Given the description of an element on the screen output the (x, y) to click on. 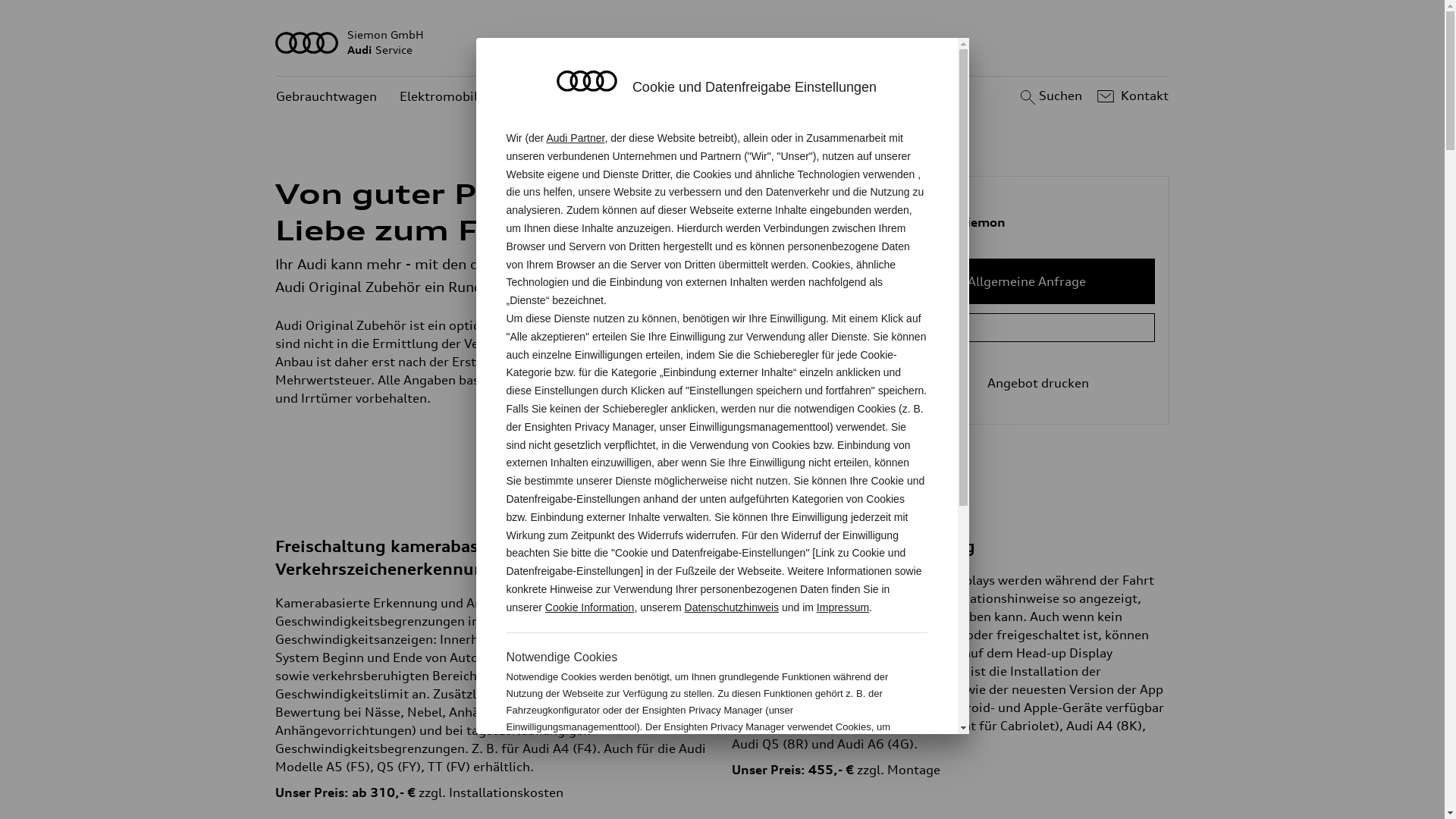
Cookie Information Element type: text (847, 776)
Suchen Element type: text (1049, 96)
Angebote Element type: text (550, 96)
Allgemeine Anfrage Element type: text (1025, 281)
Angebot drucken Element type: text (1026, 382)
Datenschutzhinweis Element type: text (731, 607)
Gebrauchtwagen Element type: text (326, 96)
Cookie Information Element type: text (589, 607)
Siemon GmbH
AudiService Element type: text (722, 42)
Audi Partner Element type: text (575, 137)
Kontakt Element type: text (1130, 96)
Kundenservice Element type: text (645, 96)
Impressum Element type: text (842, 607)
